Given the description of an element on the screen output the (x, y) to click on. 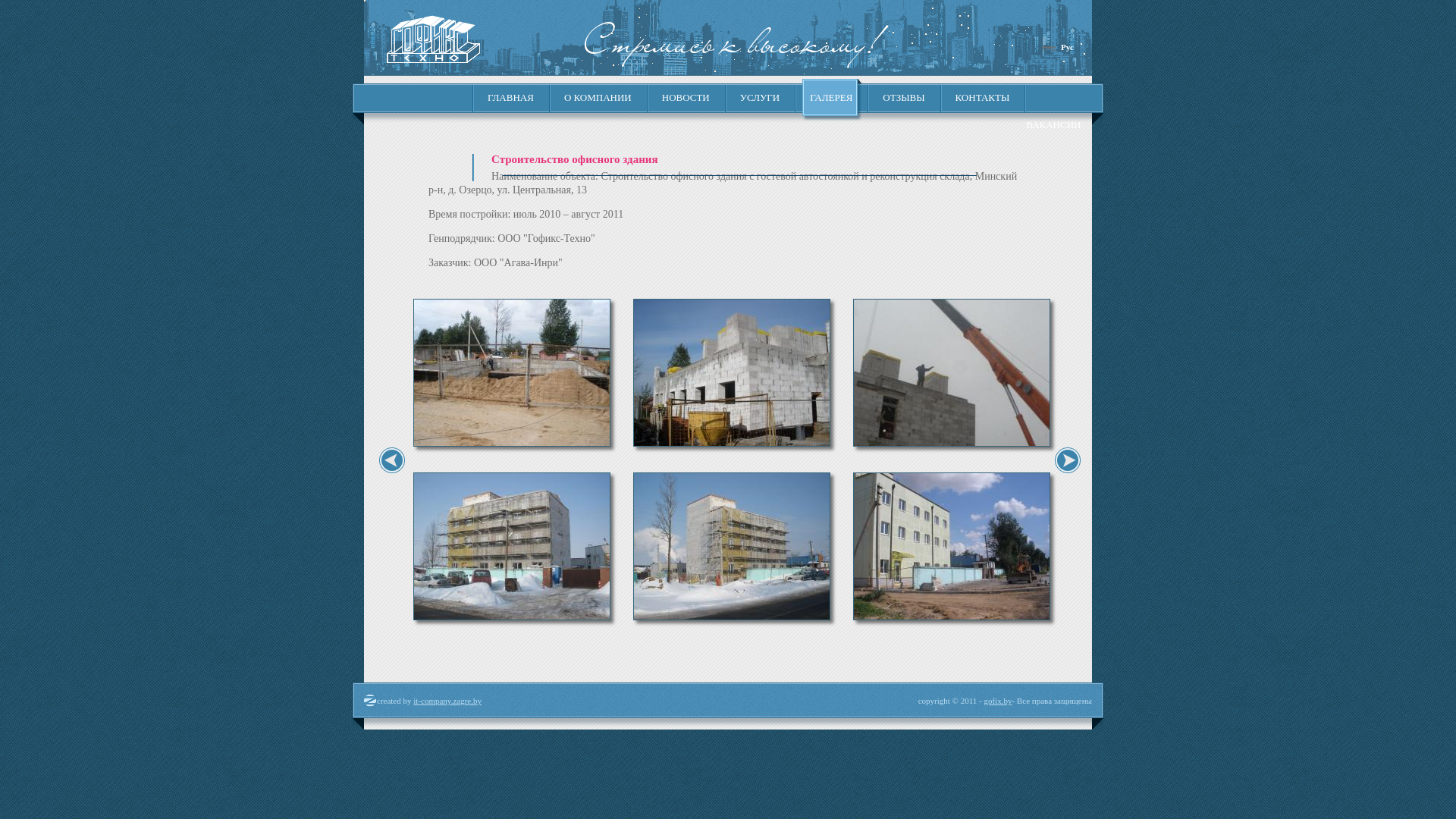
gofix.by Element type: hover (433, 59)
it-company.zagre.by Element type: text (447, 700)
gofix.by Element type: text (997, 700)
